Given the description of an element on the screen output the (x, y) to click on. 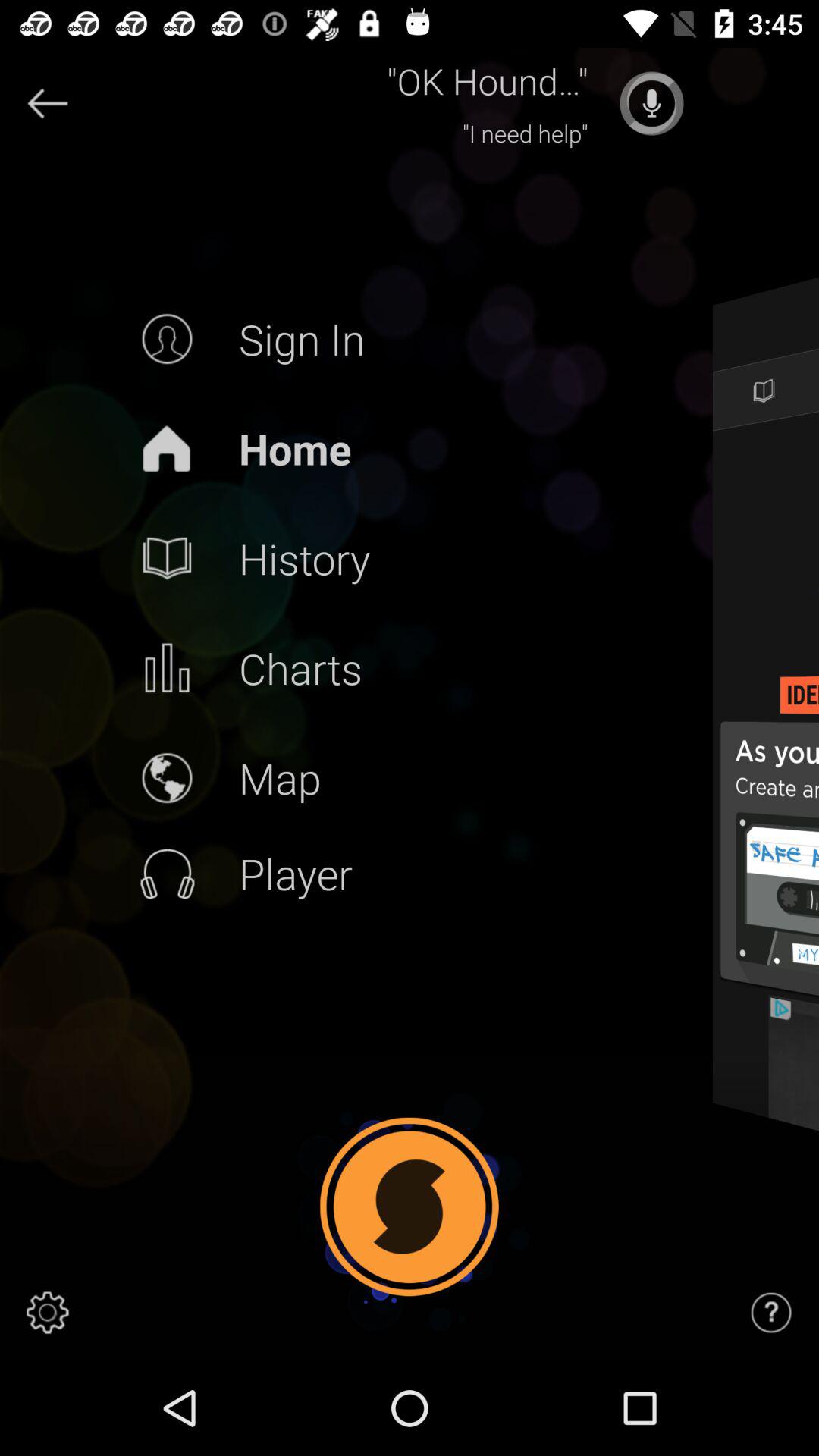
tap the icon at the bottom left corner (47, 1312)
